Given the description of an element on the screen output the (x, y) to click on. 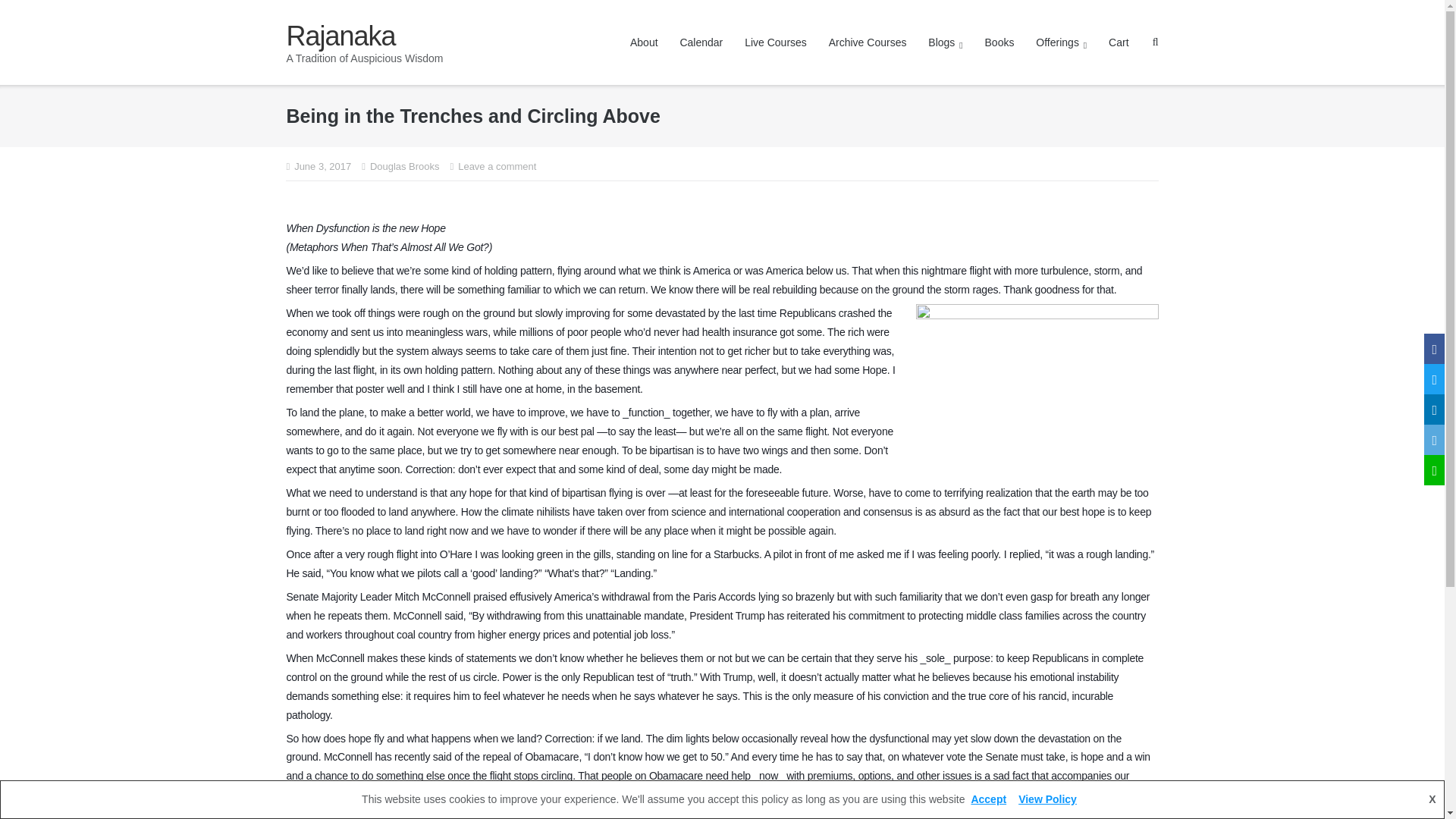
Cart (1118, 42)
Archive Courses (867, 42)
Leave a comment (496, 166)
Offerings (1060, 42)
Blogs (945, 42)
Books (999, 42)
Accept (987, 799)
Rajanaka (363, 36)
Douglas Brooks (404, 166)
View Policy (1047, 799)
Live Courses (775, 42)
Calendar (700, 42)
About (644, 42)
